Given the description of an element on the screen output the (x, y) to click on. 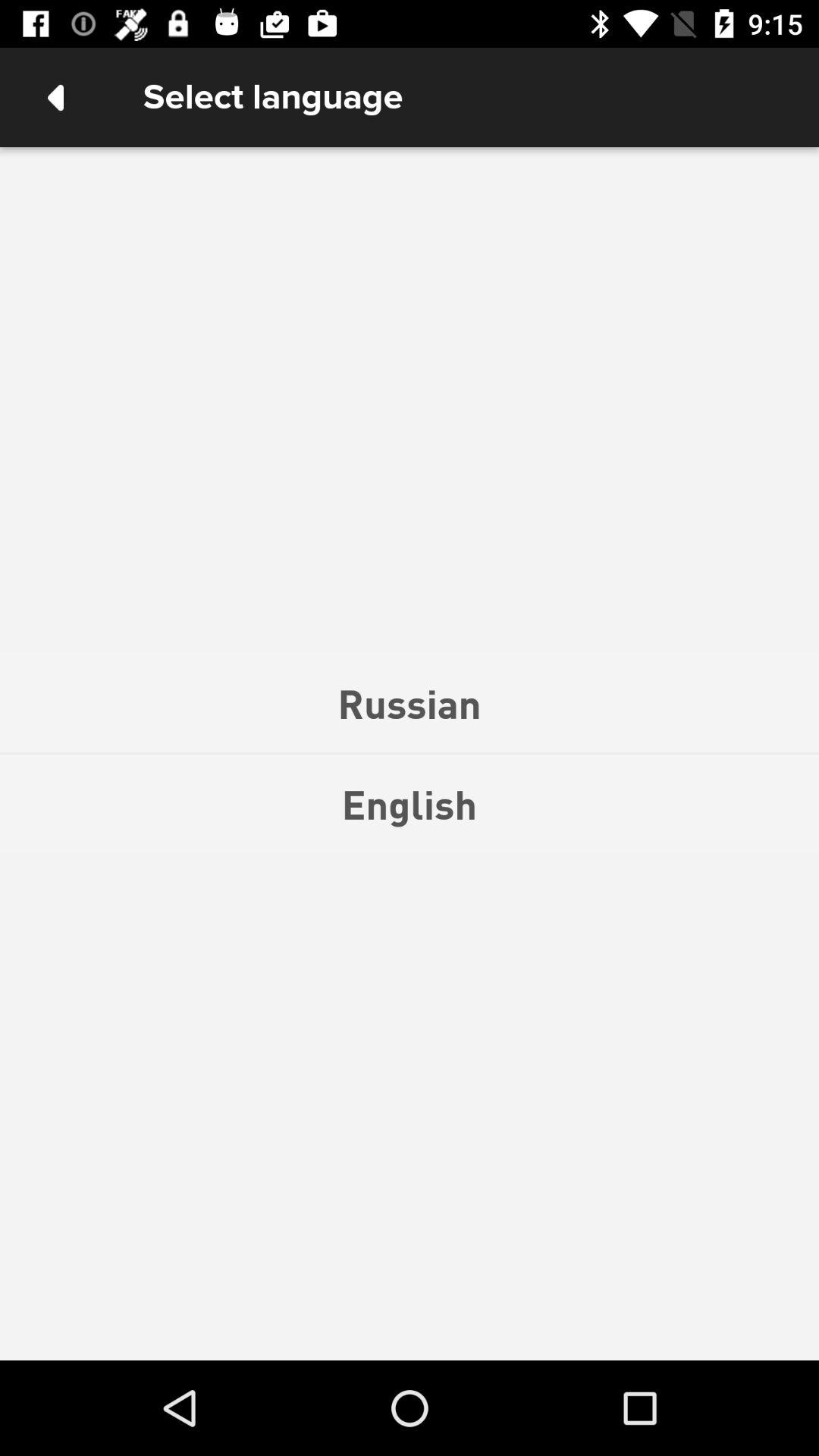
select icon above english (409, 703)
